Given the description of an element on the screen output the (x, y) to click on. 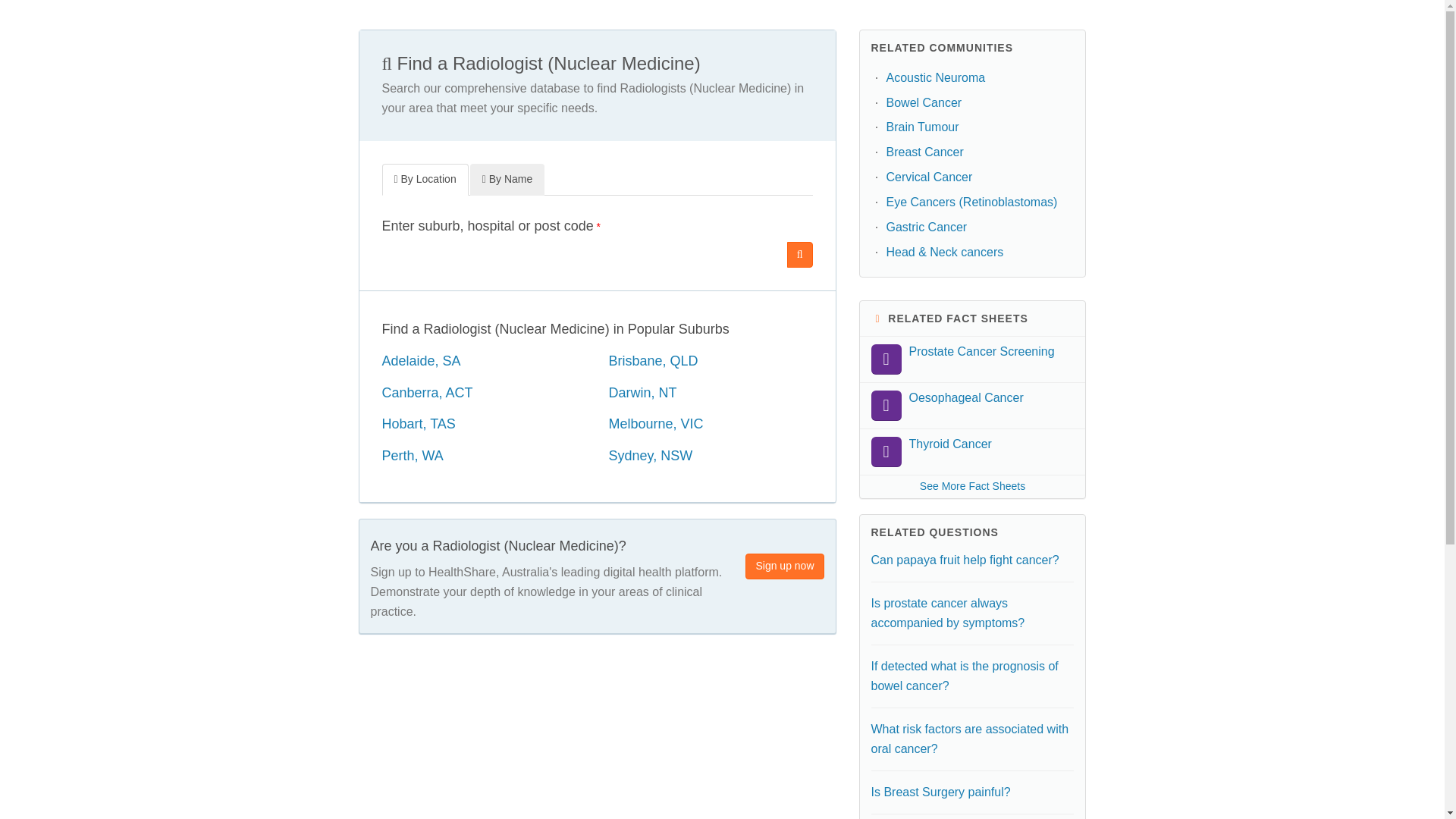
Can papaya fruit help fight cancer? (964, 559)
Is Breast Surgery painful? (940, 791)
Acoustic Neuroma (935, 77)
Canberra, ACT (427, 392)
Melbourne, VIC (655, 423)
Sydney, NSW (650, 455)
Adelaide, SA (421, 360)
Breast Cancer (923, 151)
Gastric Cancer (925, 226)
See More Fact Sheets (973, 486)
Cervical Cancer (928, 176)
Perth, WA (412, 455)
Bowel Cancer (922, 102)
Prostate Cancer Screening (973, 359)
Thyroid Cancer (973, 452)
